Given the description of an element on the screen output the (x, y) to click on. 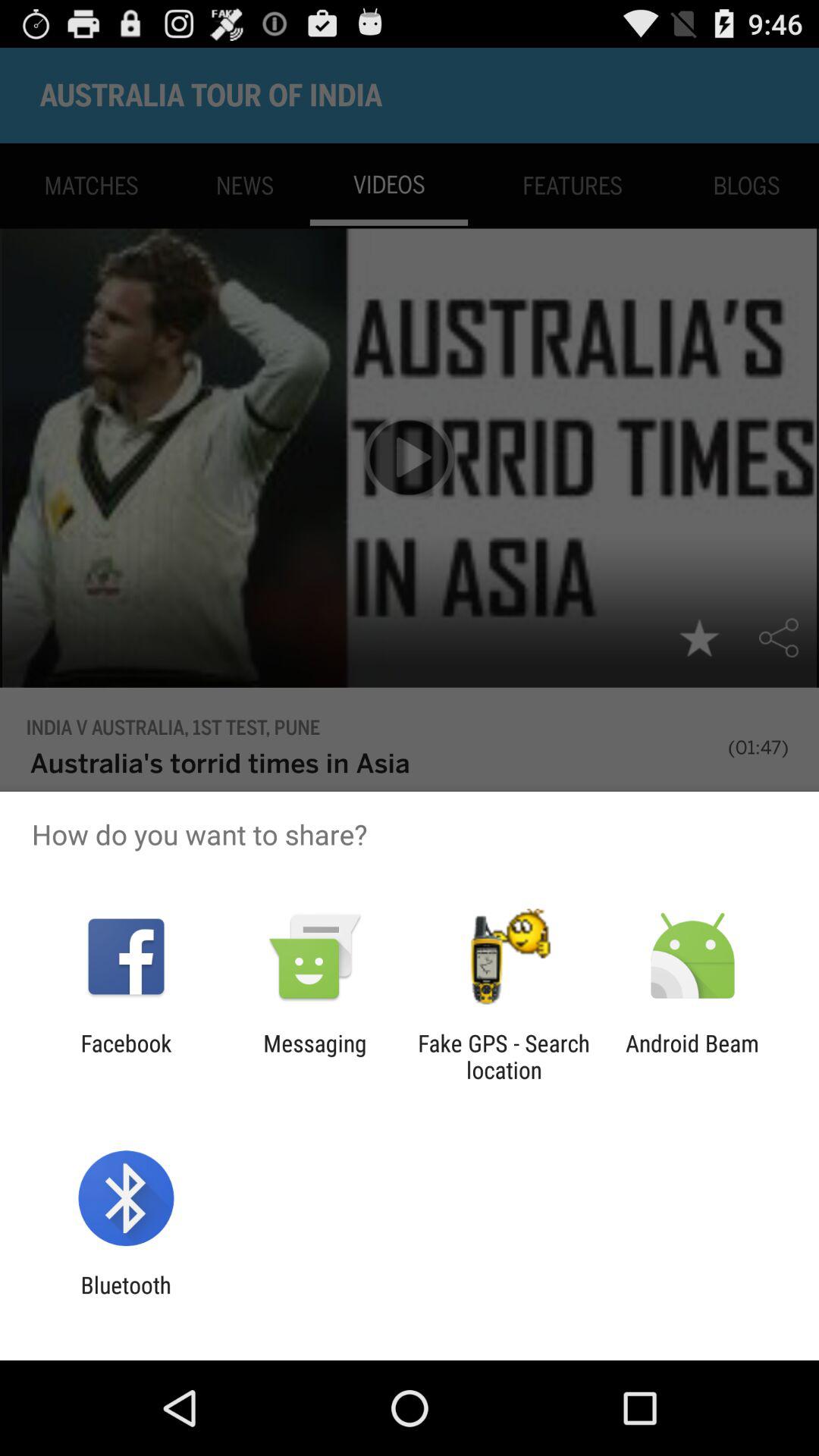
click app to the right of facebook icon (314, 1056)
